Given the description of an element on the screen output the (x, y) to click on. 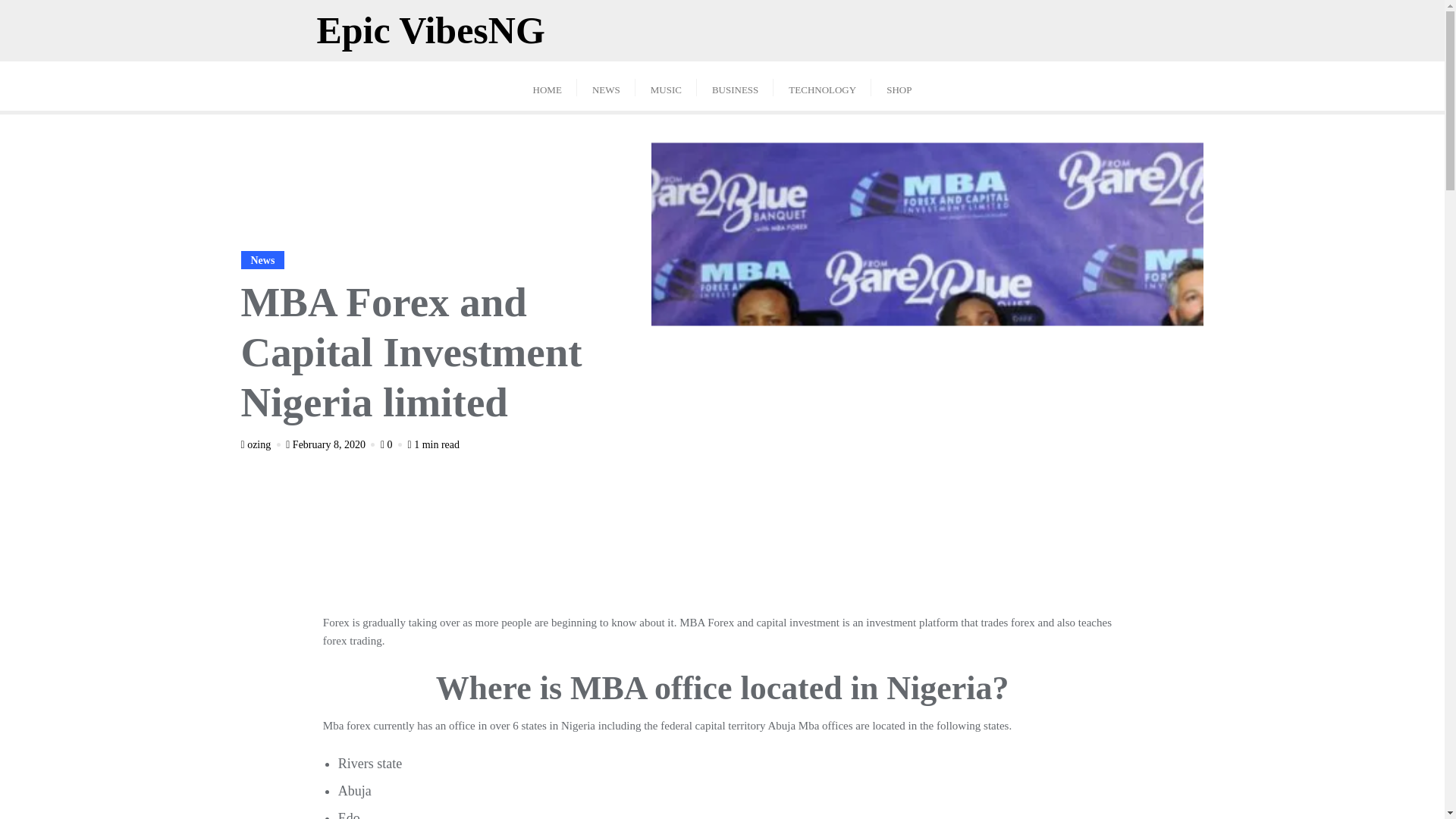
0 (392, 444)
BUSINESS (735, 85)
SHOP (898, 85)
Epic VibesNG (429, 30)
ozing (262, 444)
HOME (547, 85)
MUSIC (665, 85)
February 8, 2020 (331, 444)
1 min read (433, 444)
News (263, 259)
